Given the description of an element on the screen output the (x, y) to click on. 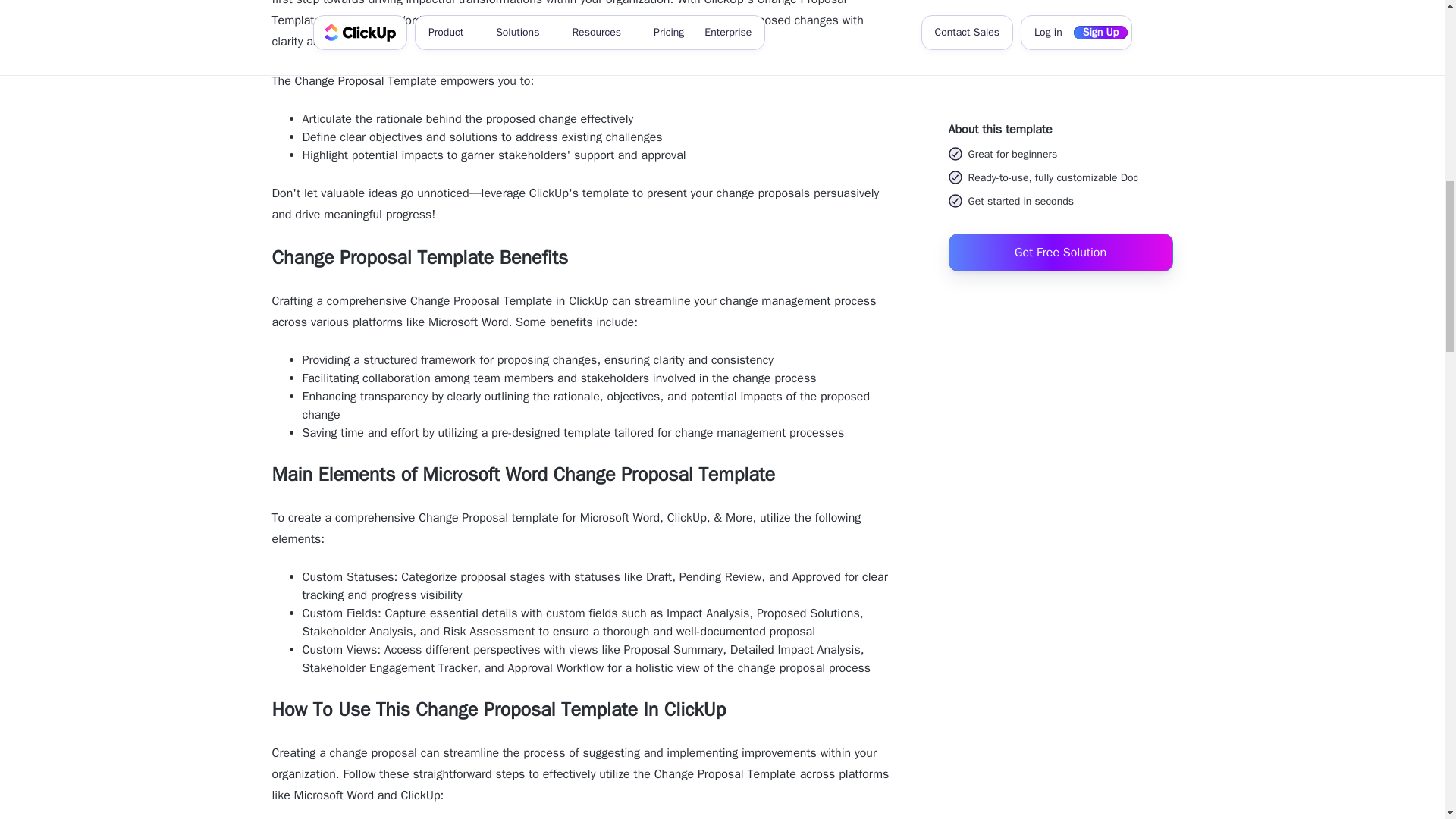
Get Free Solution (1059, 16)
